Given the description of an element on the screen output the (x, y) to click on. 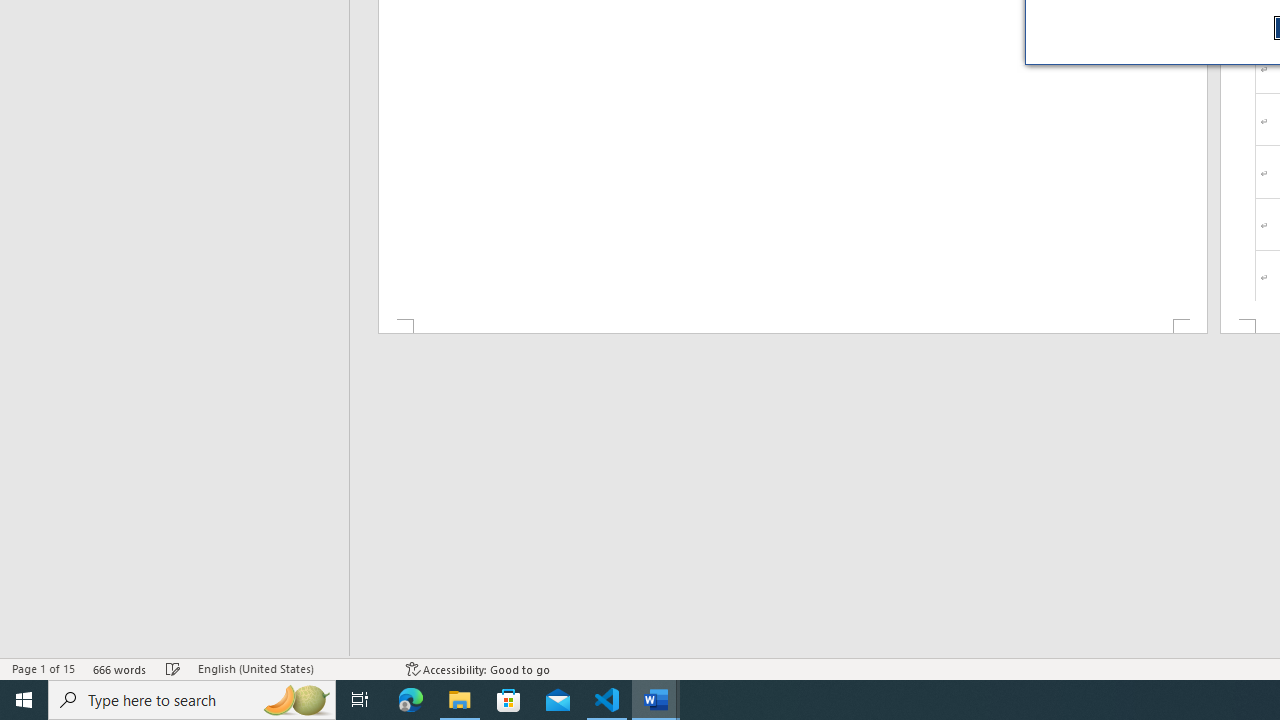
Visual Studio Code - 1 running window (607, 699)
Word - 2 running windows (656, 699)
Type here to search (191, 699)
Start (24, 699)
Page Number Page 1 of 15 (43, 668)
Word Count 666 words (119, 668)
Search highlights icon opens search home window (295, 699)
Language English (United States) (292, 668)
Accessibility Checker Accessibility: Good to go (478, 668)
Footer -Section 1- (792, 326)
Spelling and Grammar Check Checking (173, 668)
Microsoft Edge (411, 699)
File Explorer - 1 running window (460, 699)
Microsoft Store (509, 699)
Task View (359, 699)
